Given the description of an element on the screen output the (x, y) to click on. 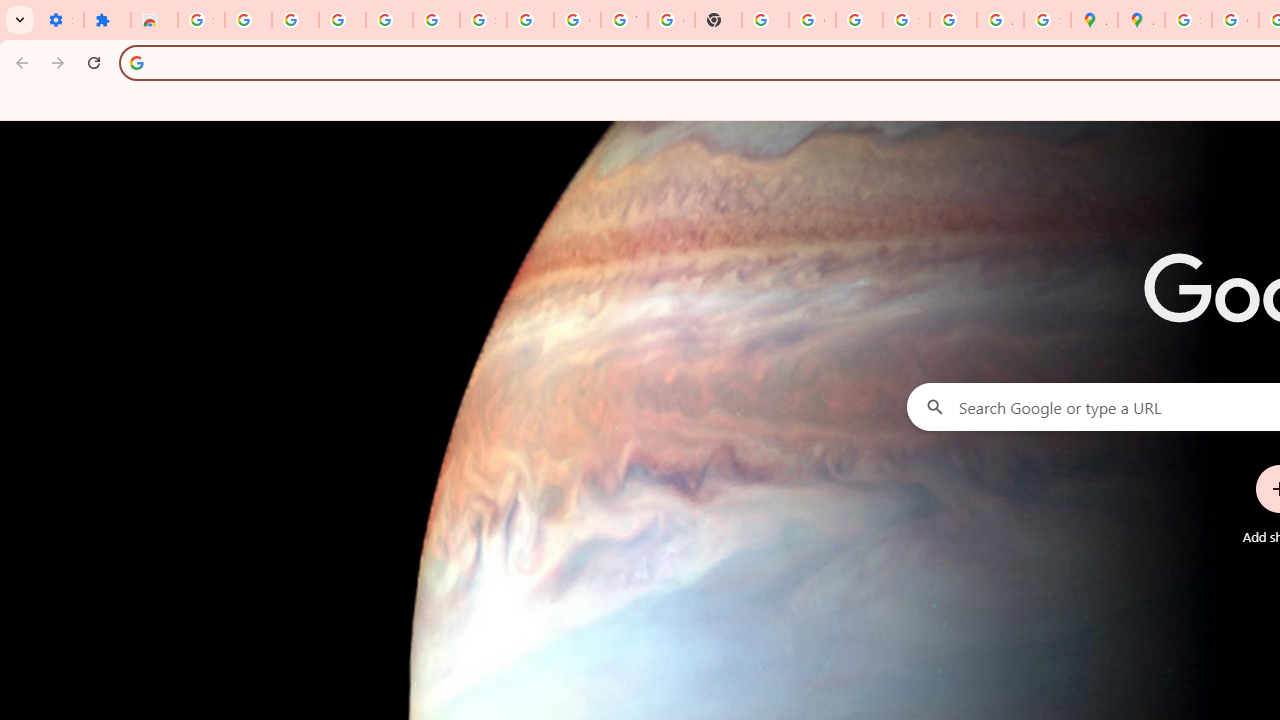
https://scholar.google.com/ (765, 20)
Safety in Our Products - Google Safety Center (1047, 20)
Learn how to find your photos - Google Photos Help (389, 20)
Reviews: Helix Fruit Jump Arcade Game (153, 20)
New Tab (718, 20)
Sign in - Google Accounts (906, 20)
Settings - On startup (60, 20)
Search icon (136, 62)
